Given the description of an element on the screen output the (x, y) to click on. 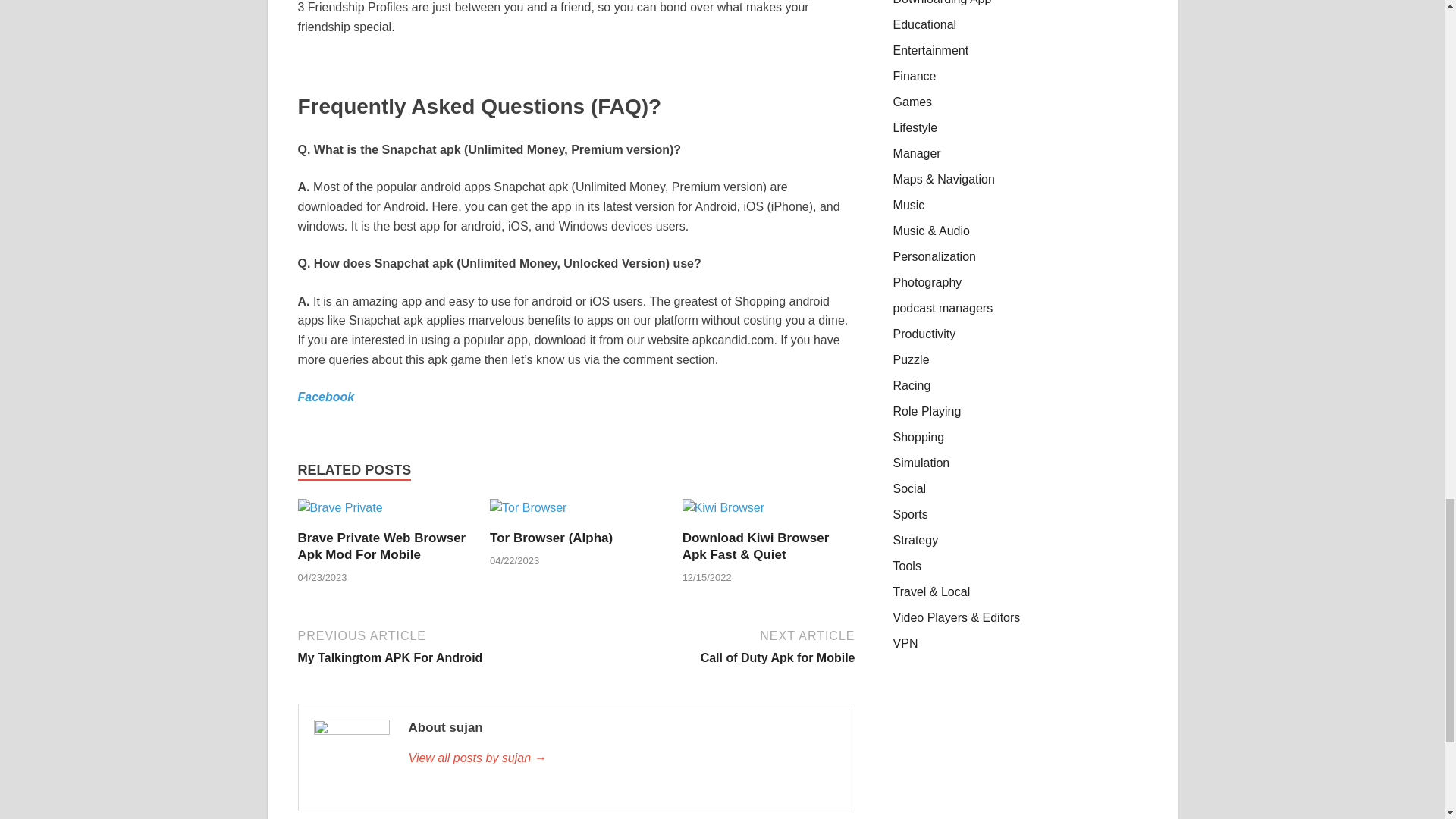
sujan (622, 758)
Brave Private Web Browser Apk Mod  For Mobile (339, 513)
Brave Private Web Browser Apk Mod  For Mobile (381, 545)
